Given the description of an element on the screen output the (x, y) to click on. 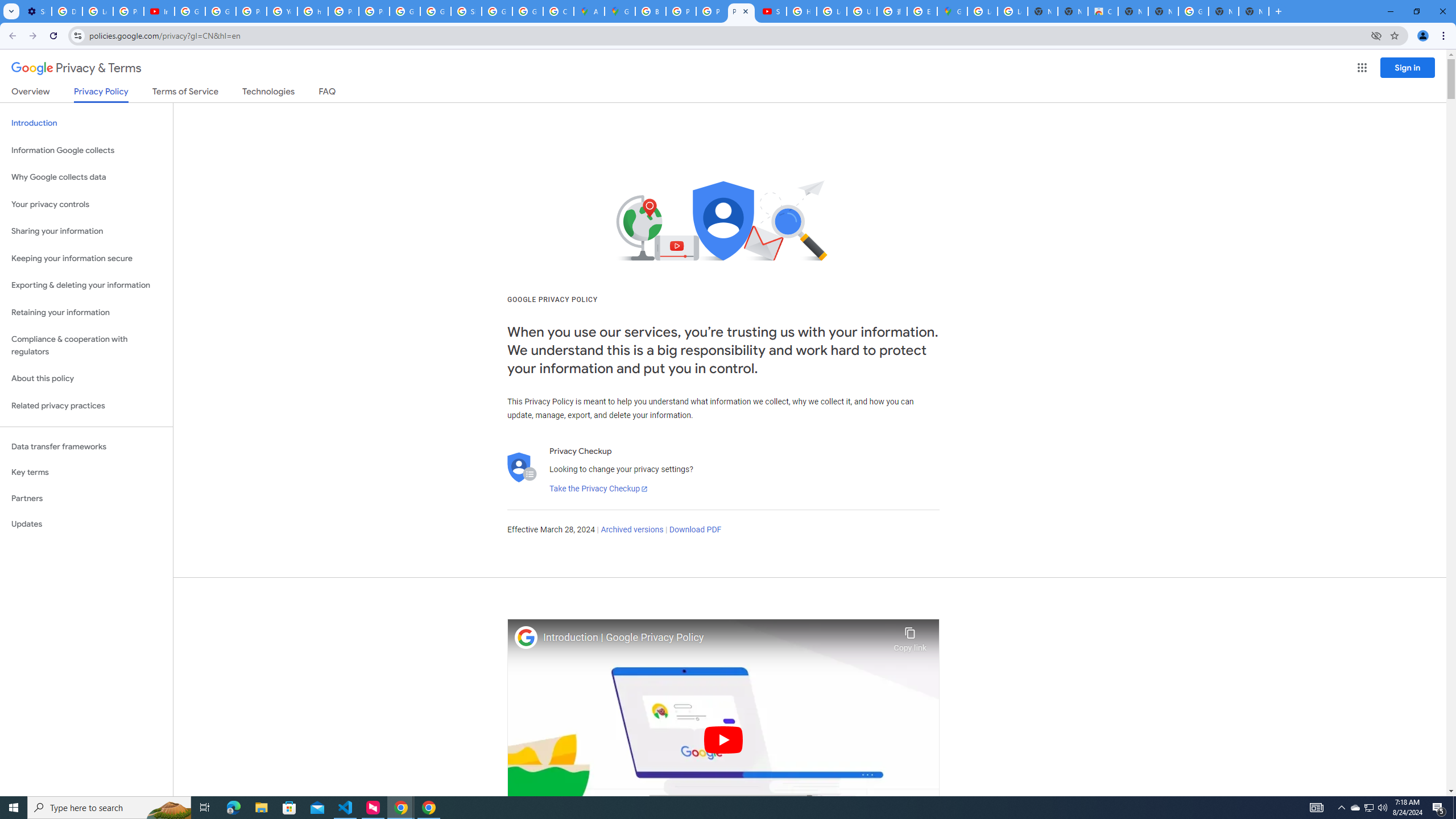
Settings - Customize profile (36, 11)
FAQ (327, 93)
Technologies (268, 93)
Introduction | Google Privacy Policy (715, 637)
Sign in - Google Accounts (465, 11)
Google Maps (619, 11)
How Chrome protects your passwords - Google Chrome Help (801, 11)
Subscriptions - YouTube (771, 11)
Google Maps (951, 11)
Keeping your information secure (86, 258)
